Given the description of an element on the screen output the (x, y) to click on. 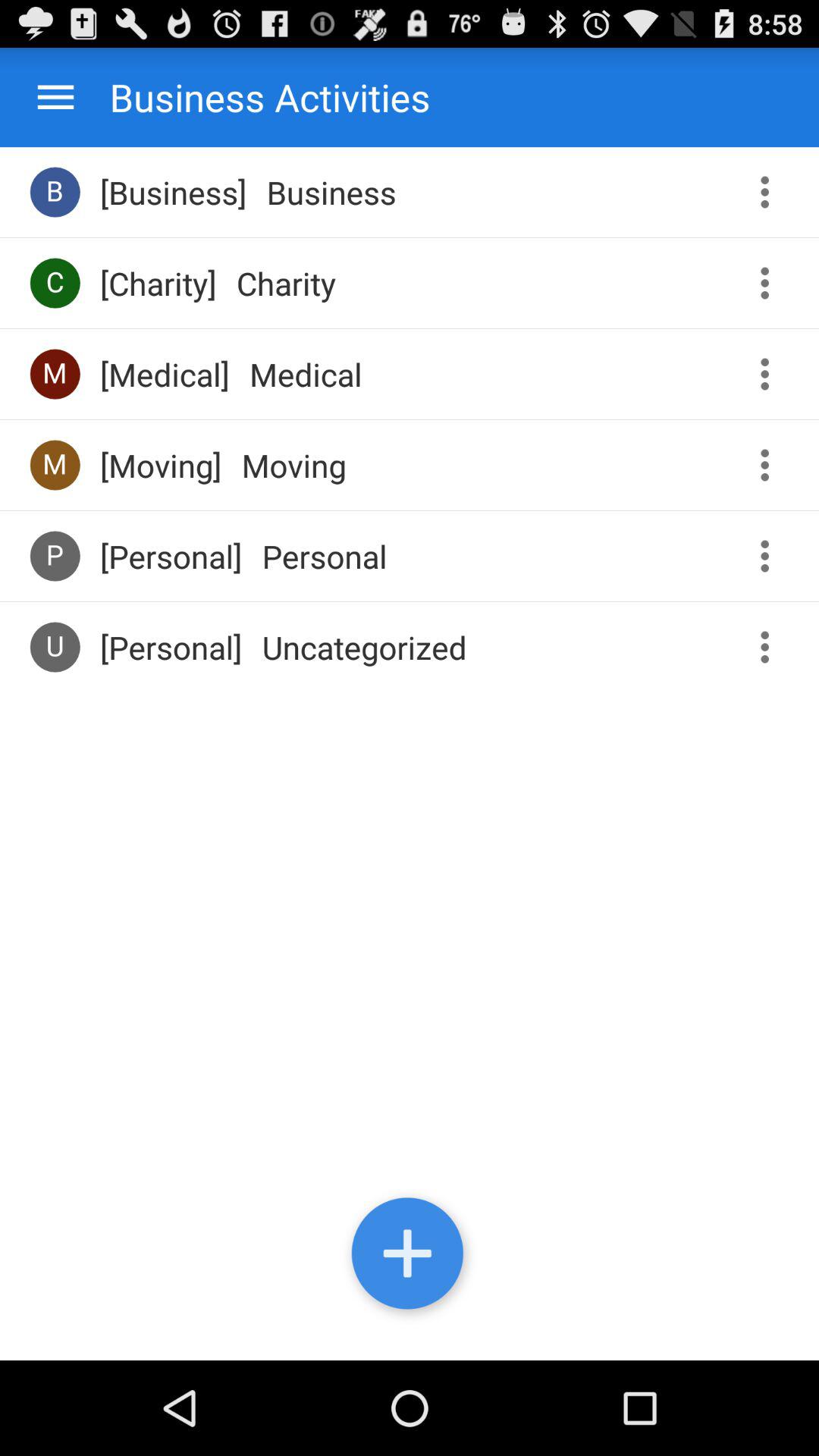
add new activity (409, 1256)
